Given the description of an element on the screen output the (x, y) to click on. 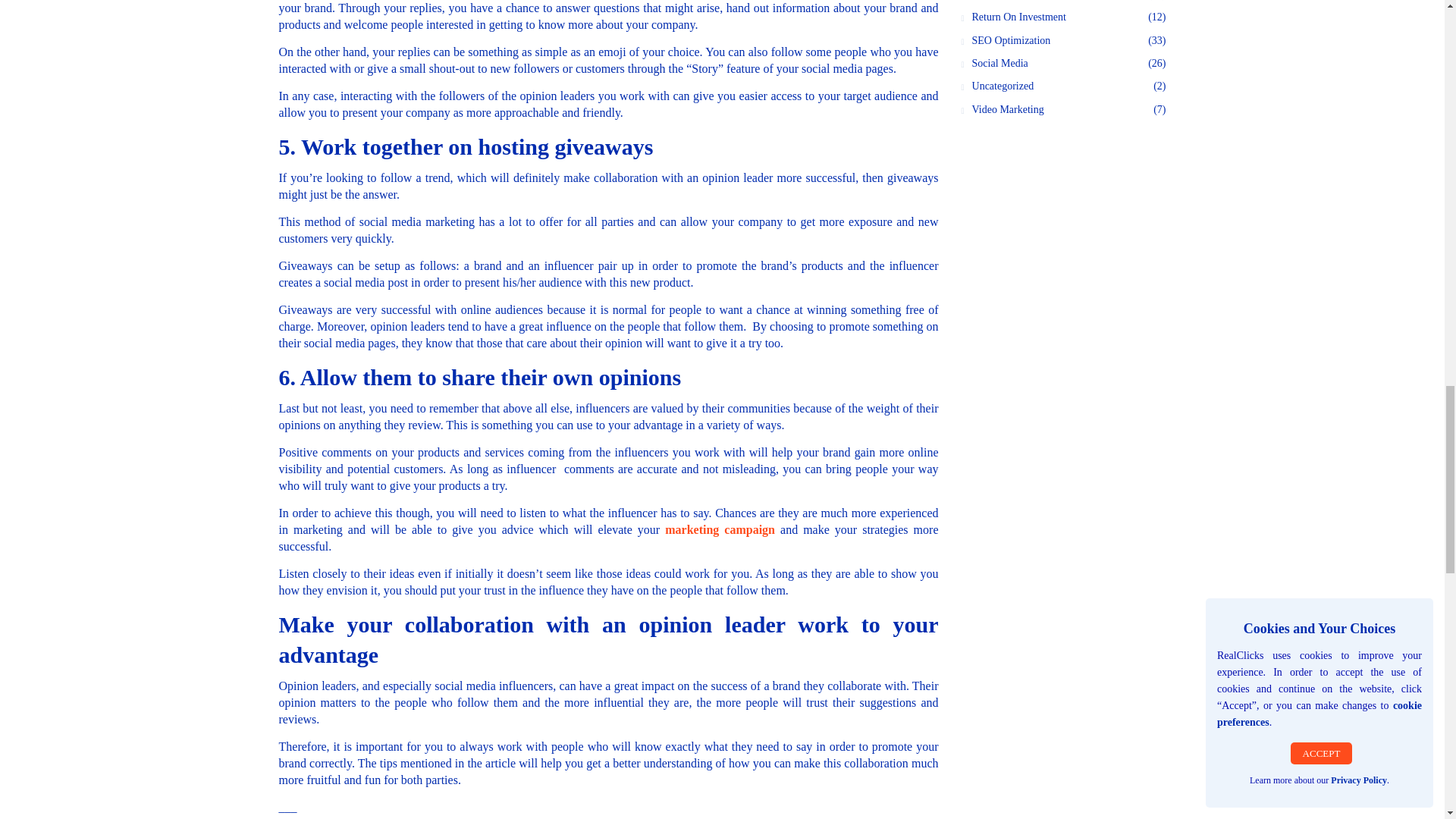
marketing campaign (719, 529)
